Given the description of an element on the screen output the (x, y) to click on. 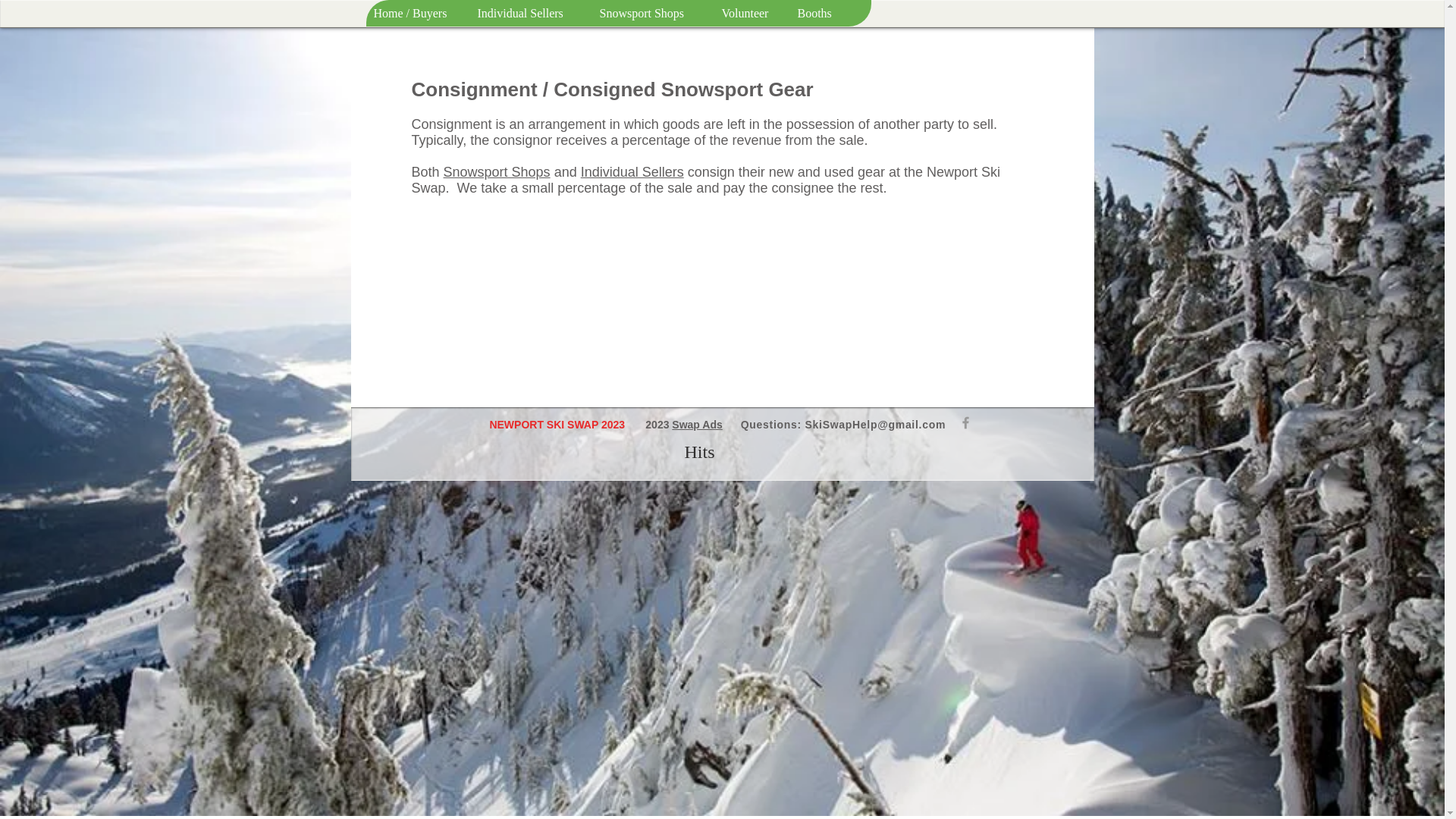
Snowsport Shops (652, 13)
Individual Sellers (529, 13)
Snowsport Shops (497, 171)
Individual Sellers (632, 171)
Swap Ads (696, 424)
Booths (818, 13)
Volunteer (751, 13)
